Given the description of an element on the screen output the (x, y) to click on. 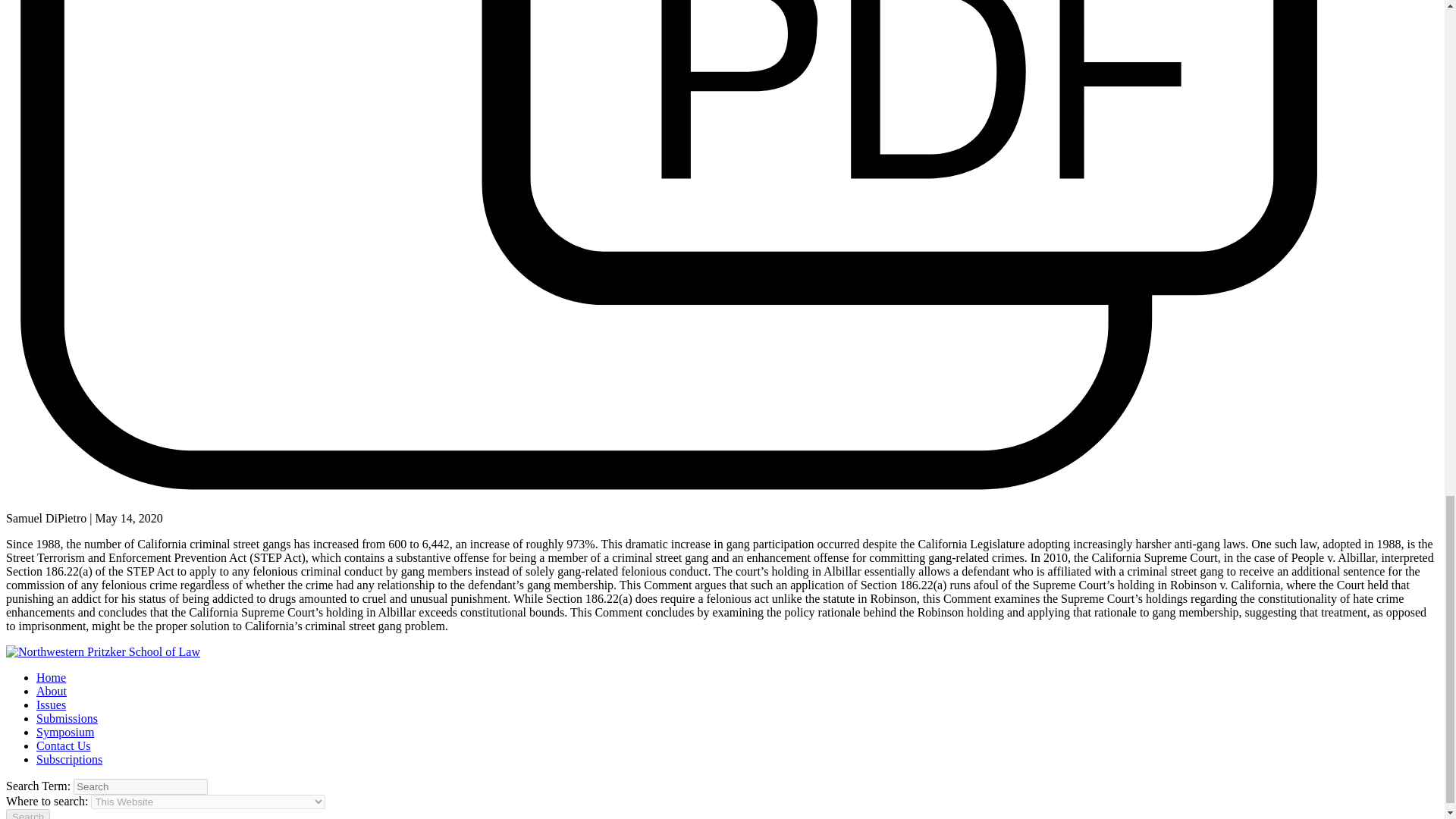
Subscriptions (68, 758)
Contact Us (63, 745)
Northwestern Pritzker School of Law (102, 651)
Symposium (65, 731)
Submissions (66, 717)
About (51, 690)
Issues (50, 704)
Home (50, 676)
